Given the description of an element on the screen output the (x, y) to click on. 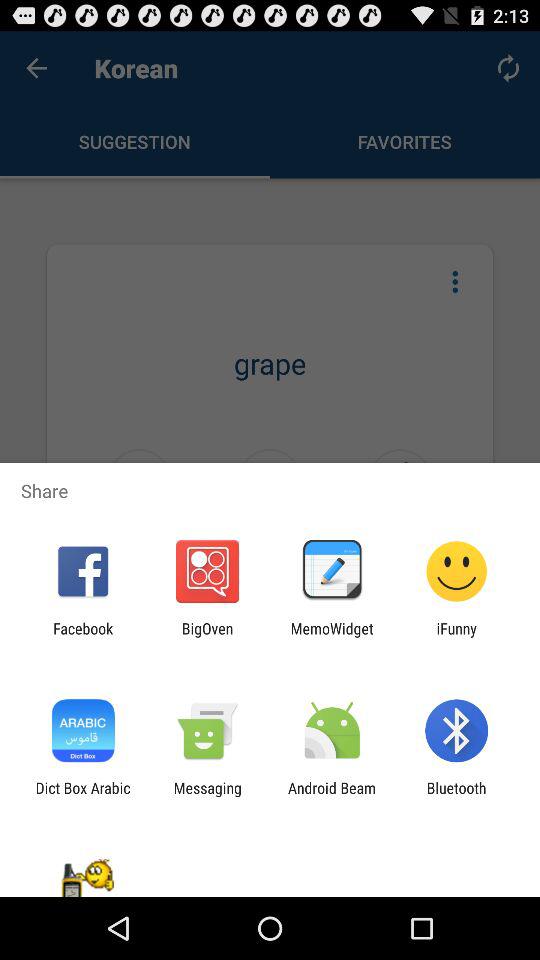
tap the bluetooth (456, 796)
